Given the description of an element on the screen output the (x, y) to click on. 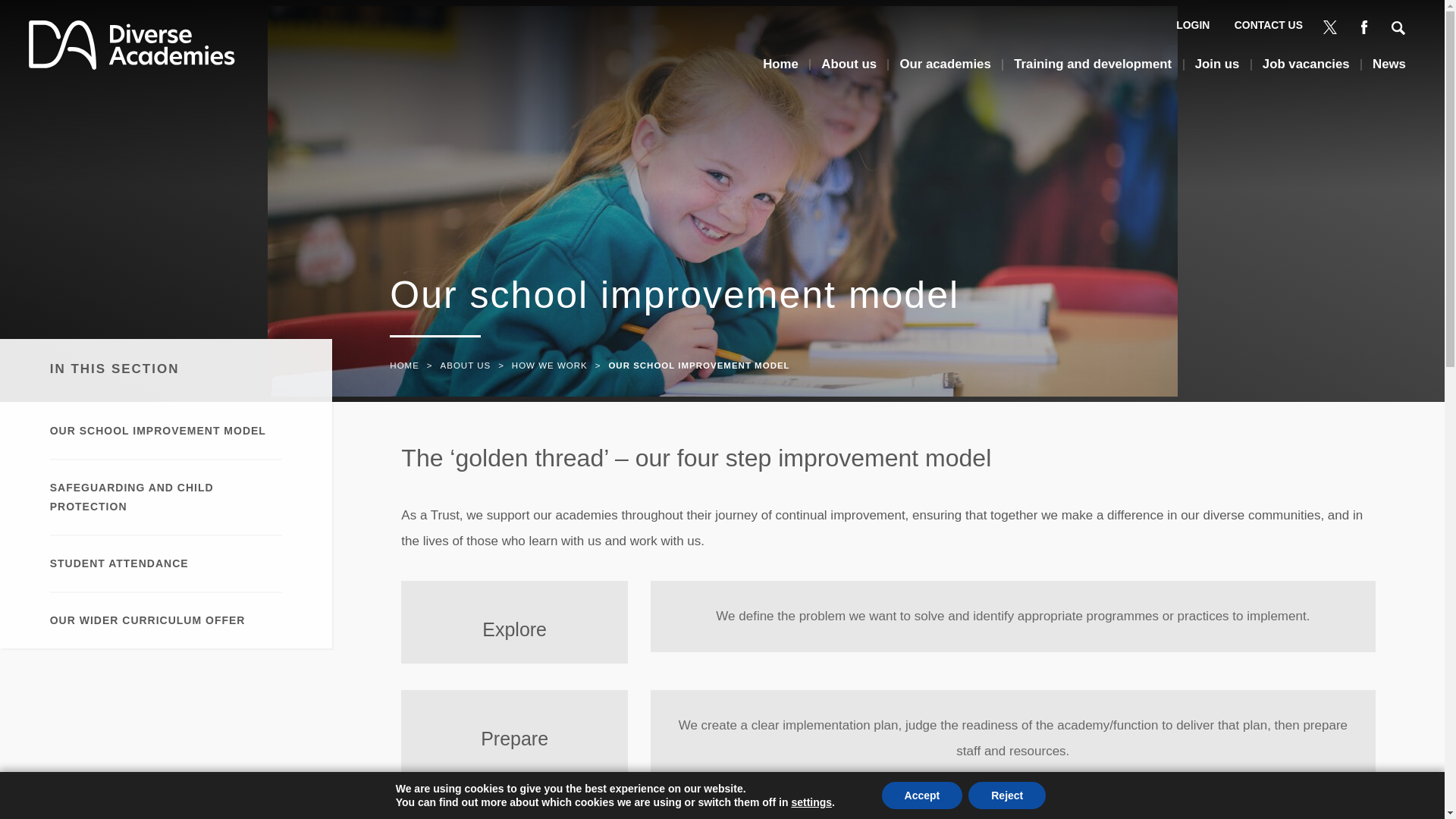
Our academies (944, 70)
Join us (1217, 70)
Job vacancies (1305, 70)
Training and development (1092, 70)
About us (848, 70)
